Given the description of an element on the screen output the (x, y) to click on. 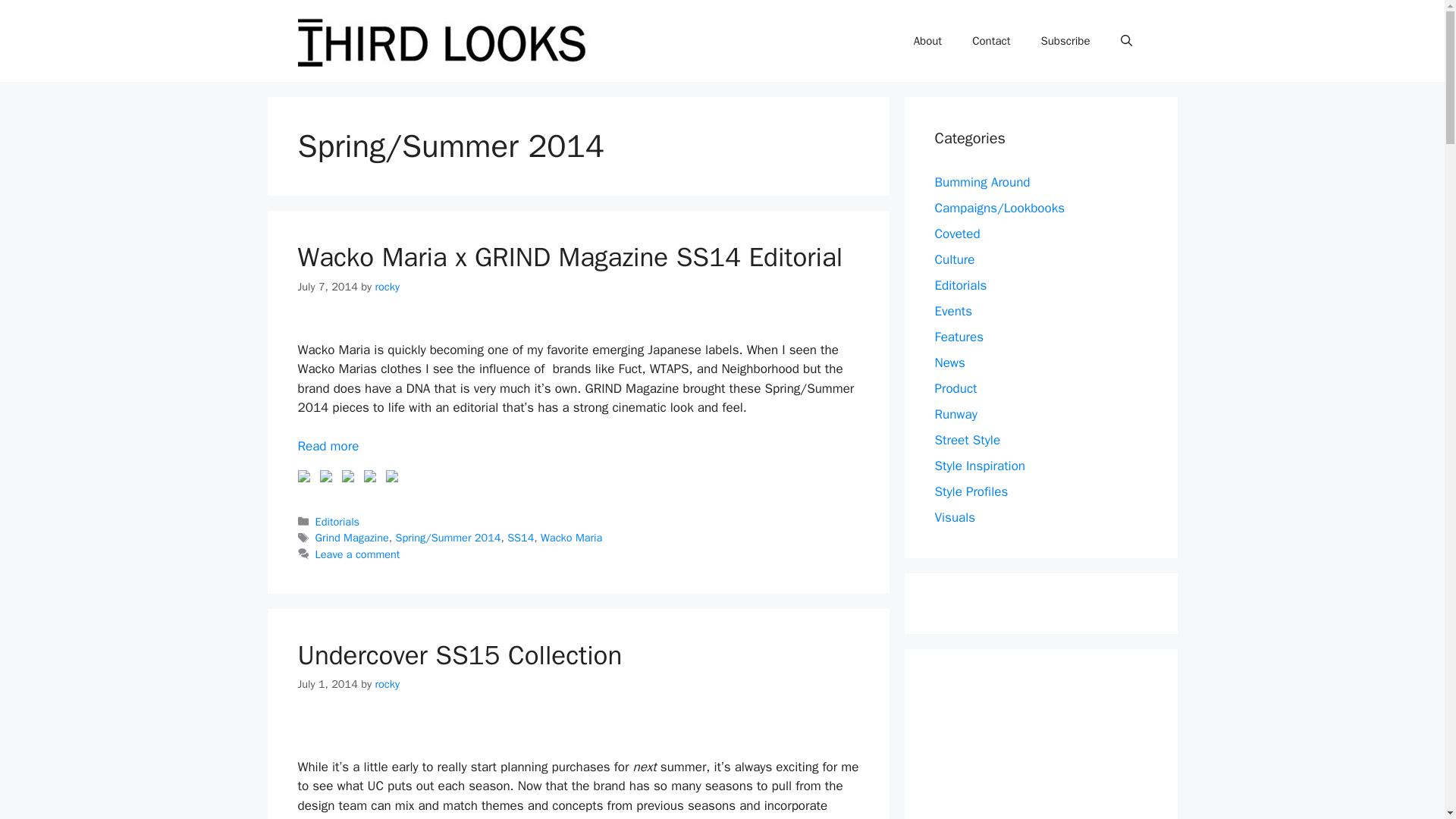
Wacko Maria (571, 537)
Share by email (394, 479)
Wacko Maria x GRIND Magazine SS14 Editorial (327, 446)
About (927, 40)
Share on Twitter (325, 476)
Share on tumblr (369, 476)
Leave a comment (357, 554)
Read more (327, 446)
Share on Facebook (302, 476)
Editorials (337, 521)
